Given the description of an element on the screen output the (x, y) to click on. 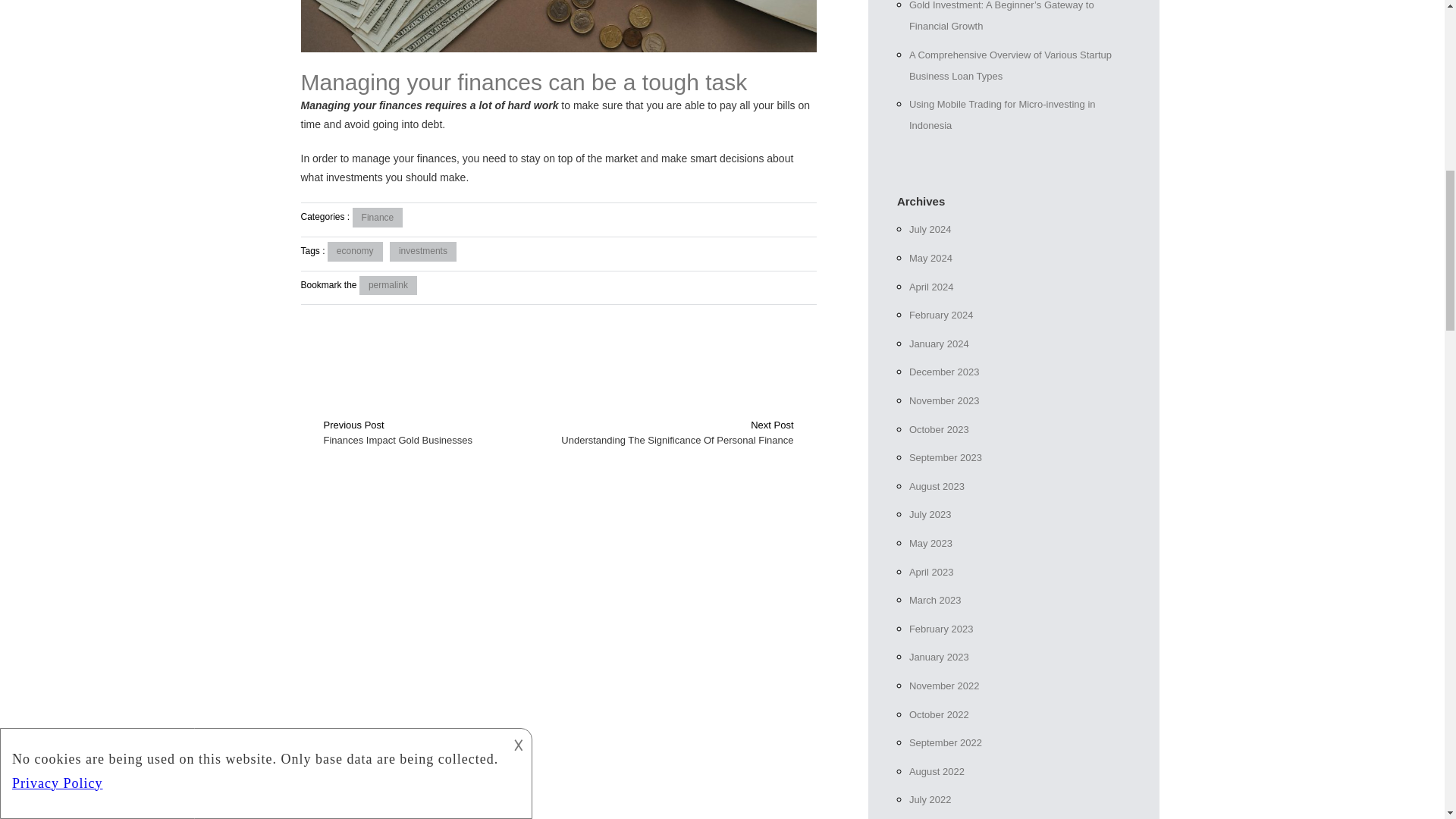
permalink (387, 285)
September 2023 (944, 457)
May 2024 (930, 257)
January 2024 (938, 343)
November 2023 (943, 400)
finances (436, 158)
July 2023 (930, 514)
April 2023 (930, 572)
July 2024 (930, 229)
August 2023 (935, 486)
